Given the description of an element on the screen output the (x, y) to click on. 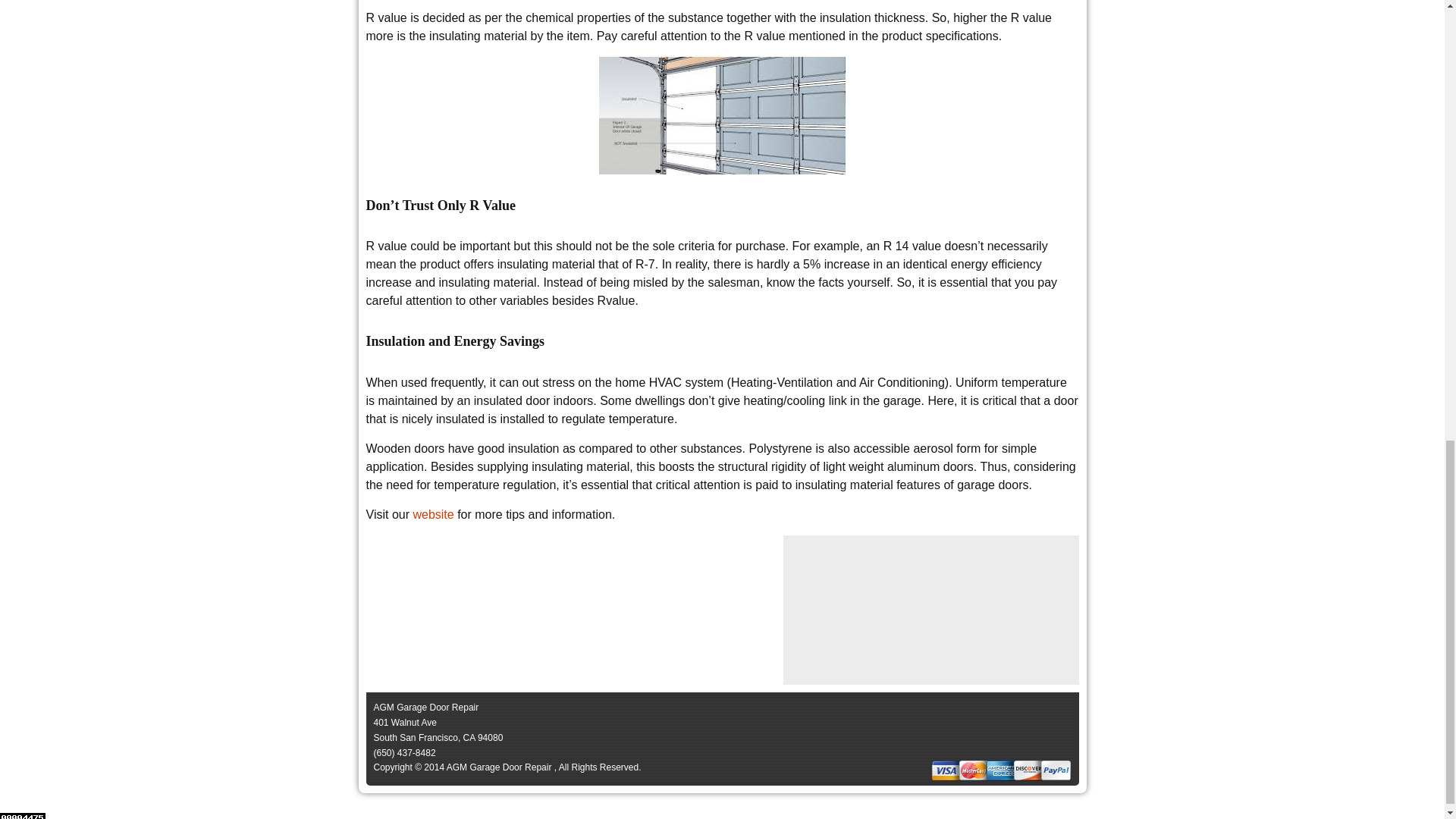
website (432, 513)
